Given the description of an element on the screen output the (x, y) to click on. 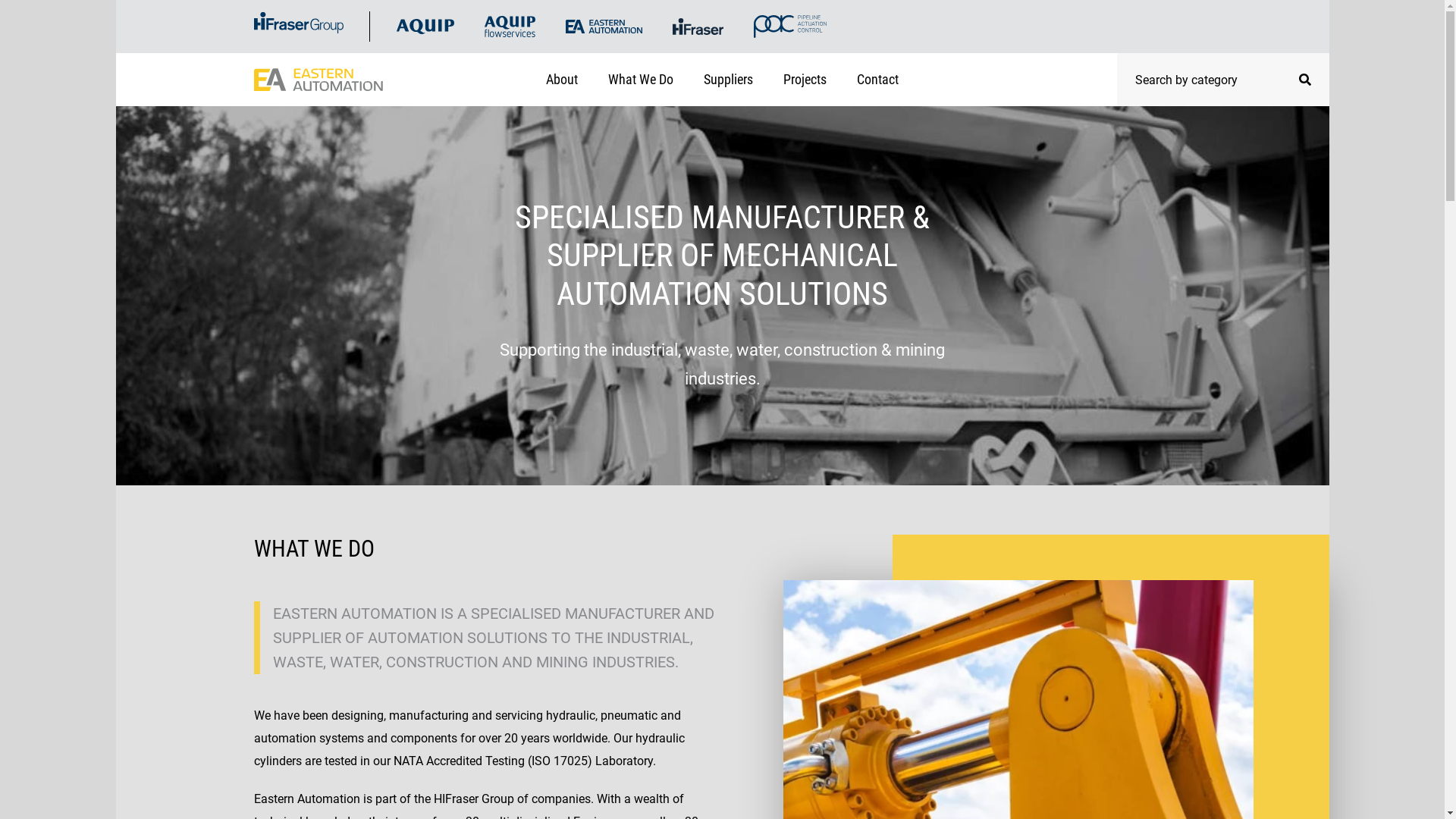
Projects Element type: text (804, 79)
About Element type: text (561, 79)
What We Do Element type: text (640, 79)
Suppliers Element type: text (728, 79)
Contact Element type: text (877, 79)
